Given the description of an element on the screen output the (x, y) to click on. 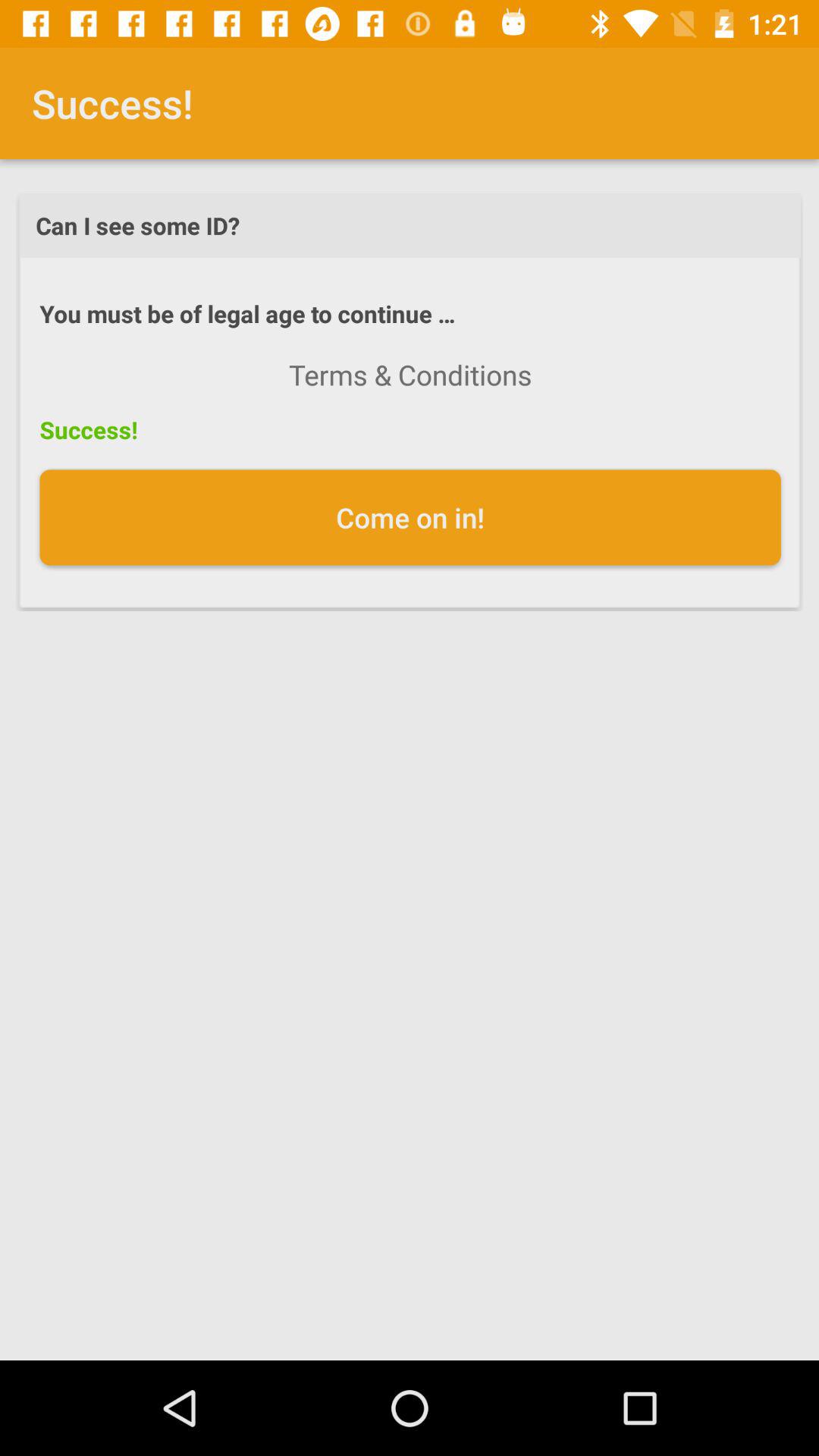
press the item above the come on in! icon (409, 374)
